Given the description of an element on the screen output the (x, y) to click on. 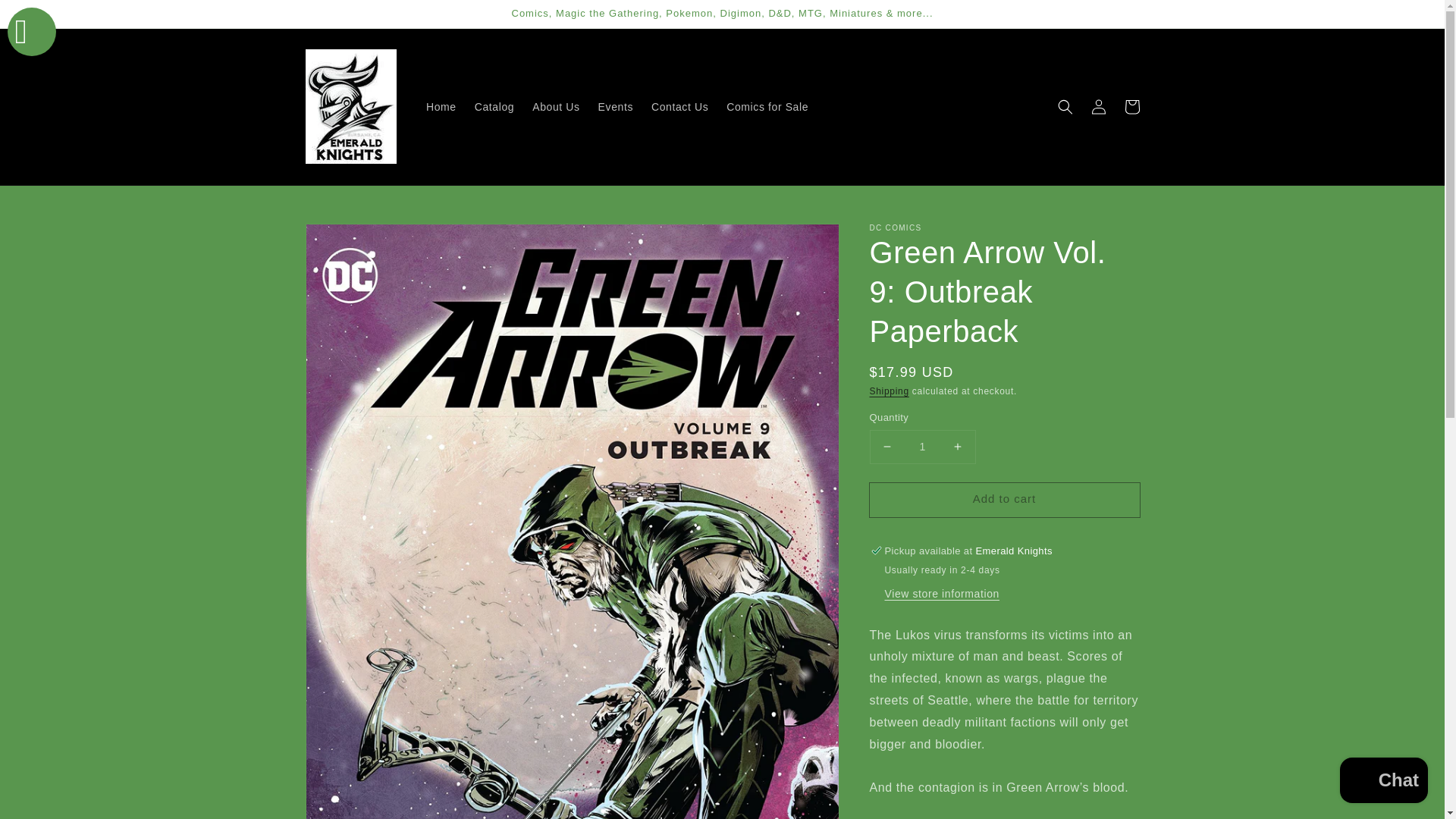
Add to cart (1003, 499)
Events (615, 106)
Cart (1131, 106)
Log in (1098, 106)
Skip to content (45, 16)
Catalog (493, 106)
Comics for Sale (766, 106)
About Us (555, 106)
1 (922, 446)
